Given the description of an element on the screen output the (x, y) to click on. 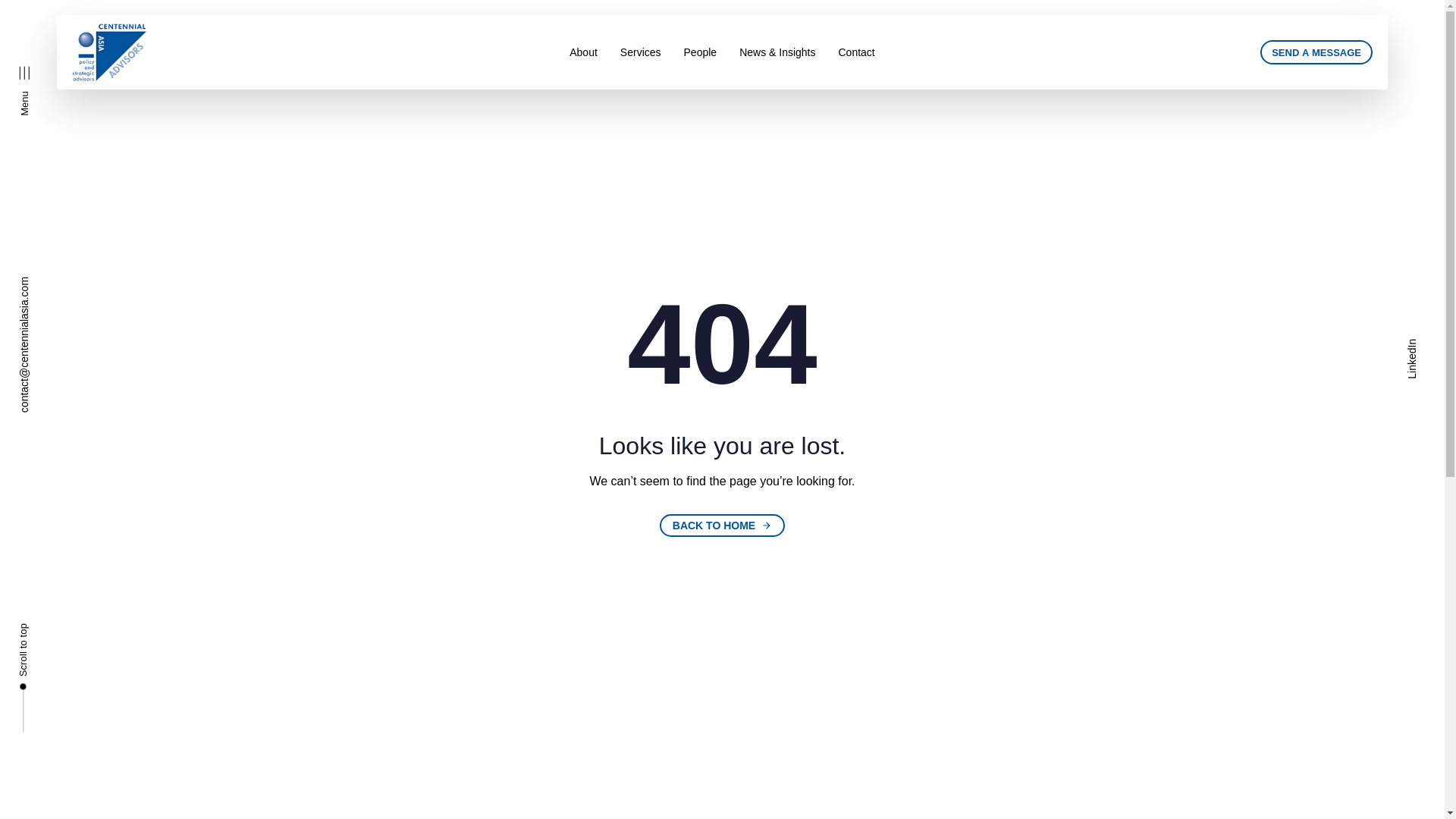
BACK TO HOME (721, 525)
Contact (856, 52)
About (582, 52)
CONTACT US (305, 655)
Menu (44, 71)
About (388, 737)
Services (640, 52)
People (1316, 52)
LinkedIn (700, 52)
Services (1426, 344)
